Given the description of an element on the screen output the (x, y) to click on. 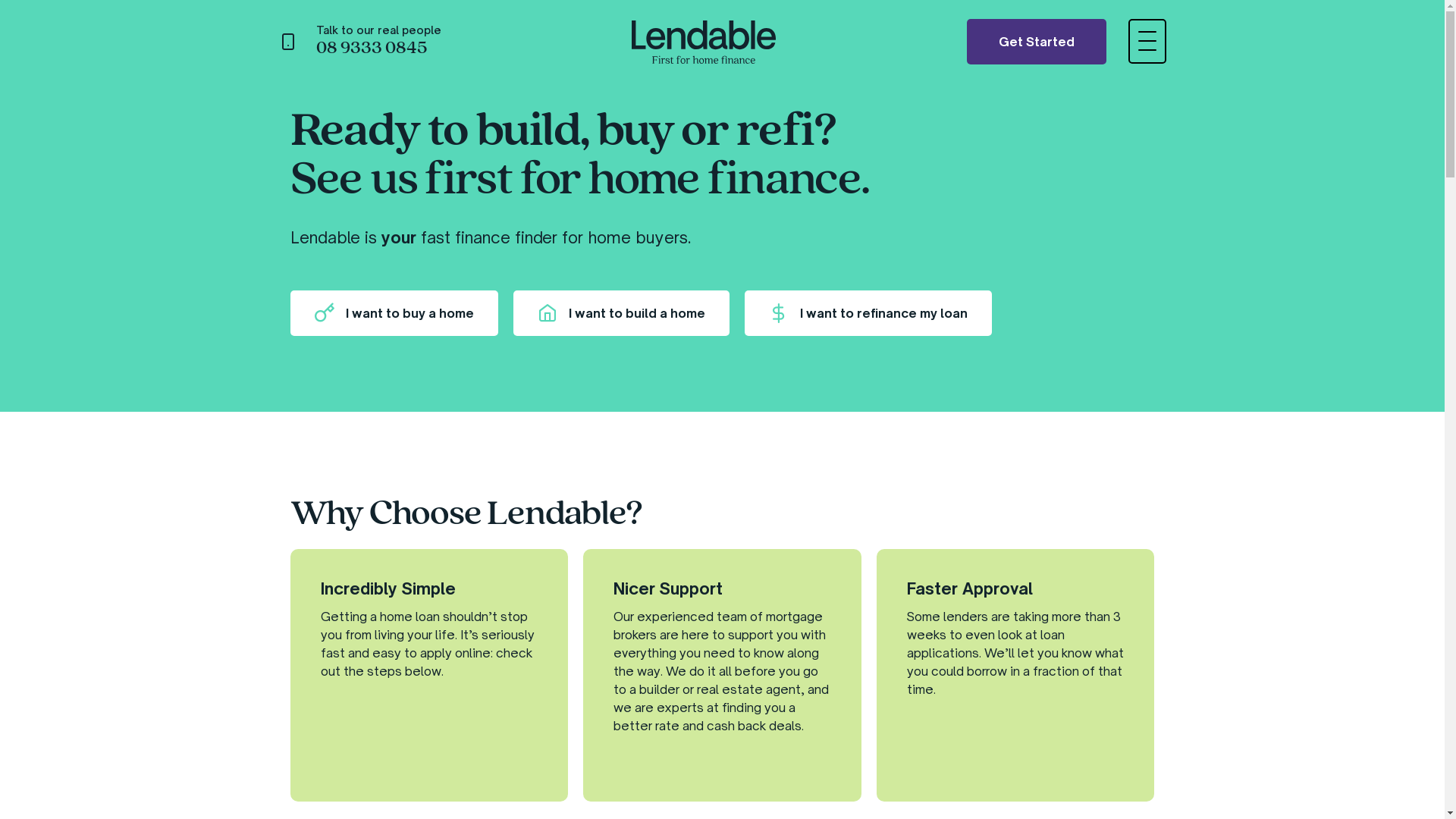
I want to buy a home Element type: text (393, 312)
I want to build a home Element type: text (620, 312)
08 9333 0845 Element type: text (370, 47)
I want to refinance my loan Element type: text (867, 312)
Get Started Element type: text (1035, 41)
